Given the description of an element on the screen output the (x, y) to click on. 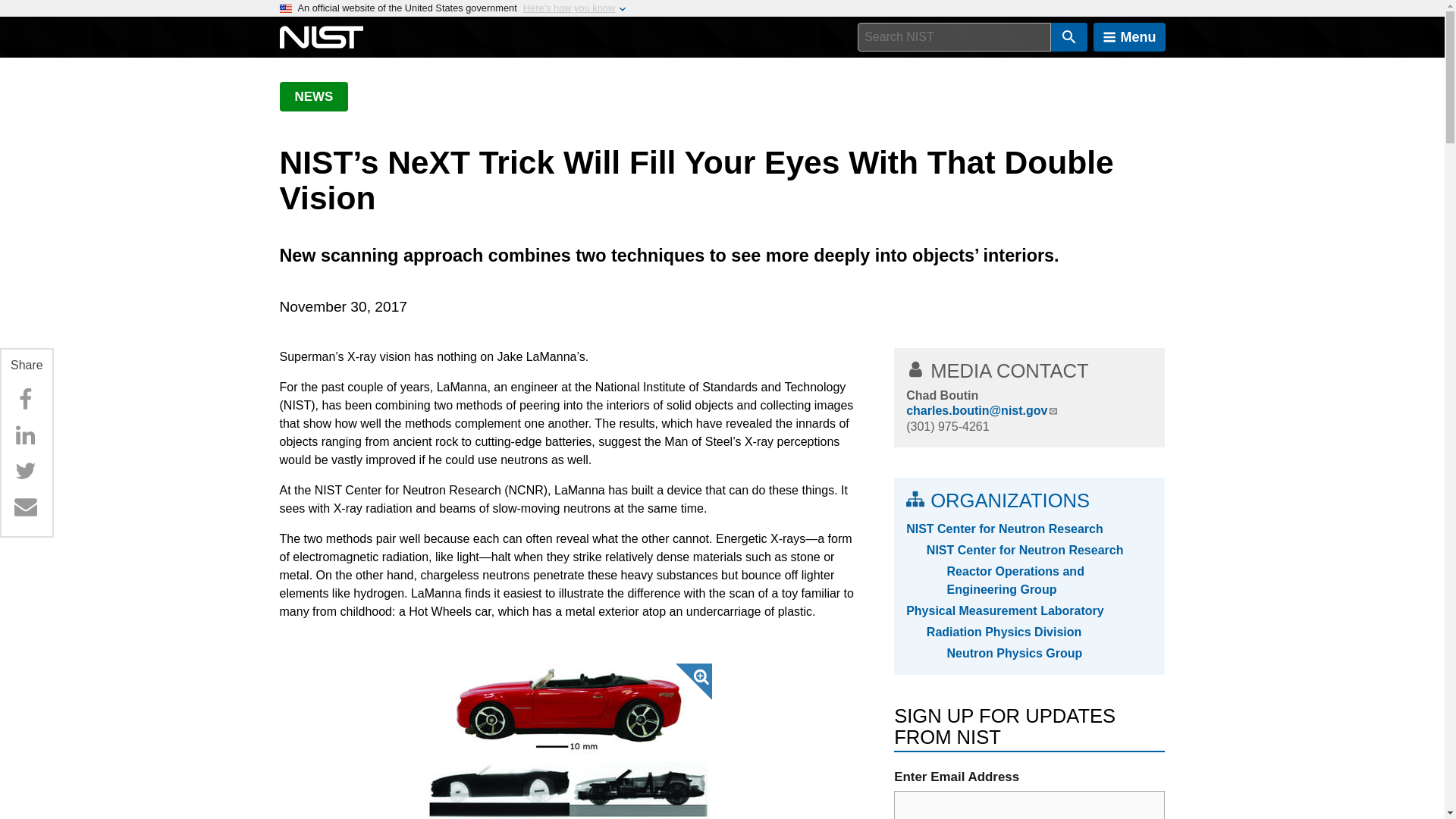
Facebook (25, 399)
Hot Wheels Car As Seen By Neutrons and X-rays  (568, 741)
View staff profile page (941, 395)
NEWS (313, 96)
Email (25, 506)
email (1028, 805)
Menu (1129, 36)
National Institute of Standards and Technology (320, 36)
Linkedin (25, 435)
Twitter (25, 470)
